Given the description of an element on the screen output the (x, y) to click on. 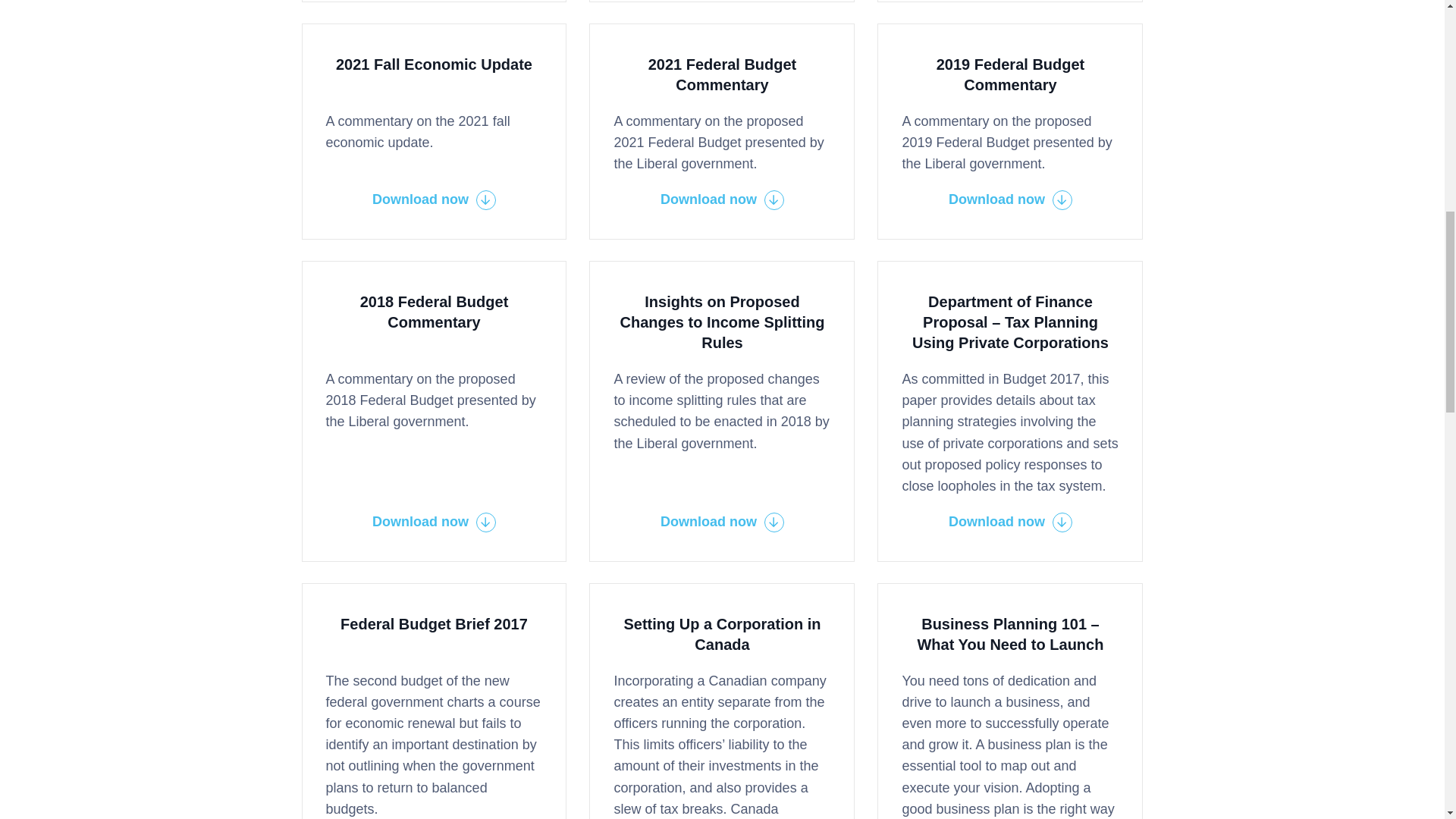
Download now (434, 199)
Download now (722, 199)
Download now (722, 522)
Download now (1010, 199)
Download now (434, 522)
